Given the description of an element on the screen output the (x, y) to click on. 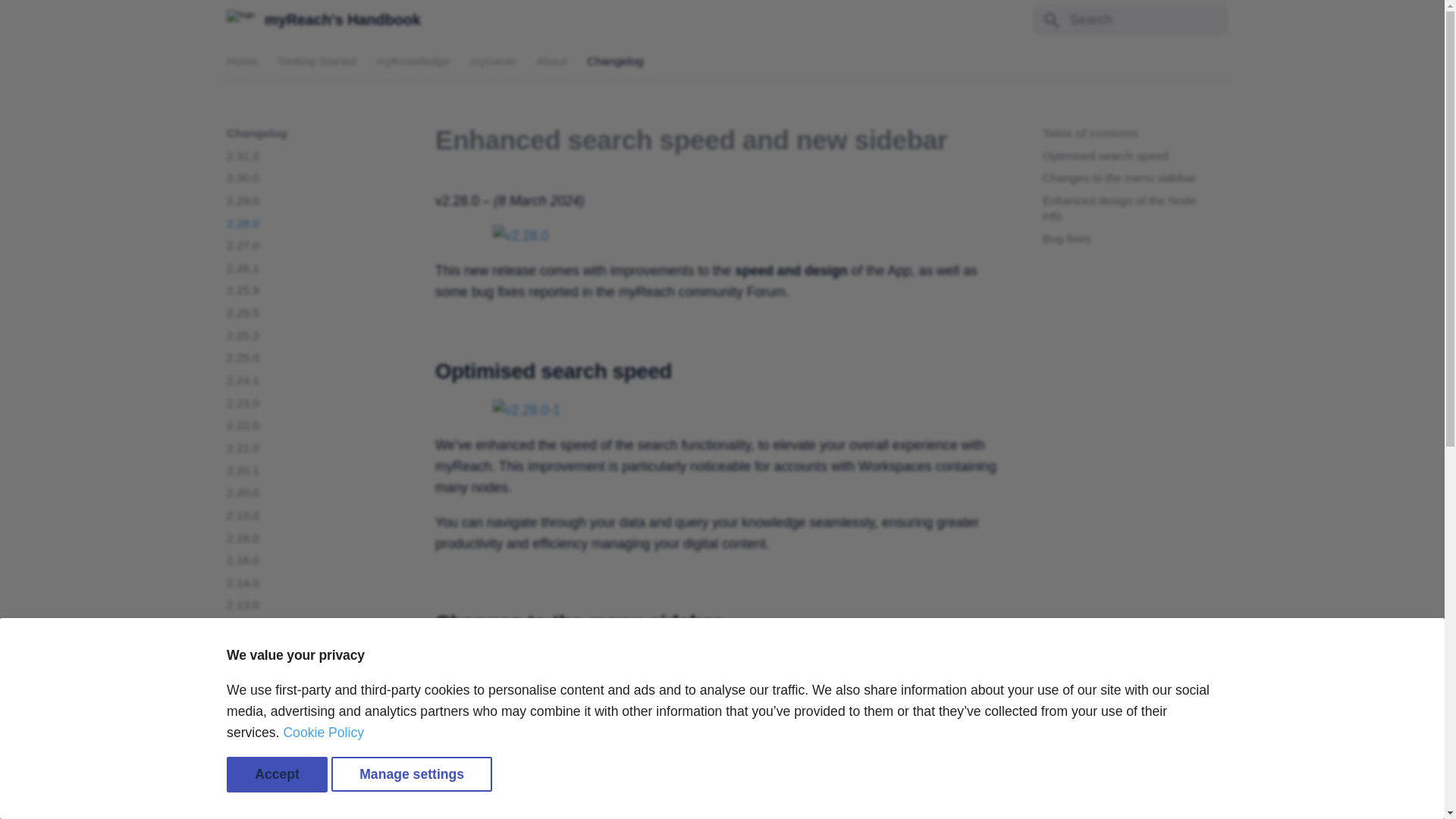
Changelog (614, 60)
About (550, 60)
myKnowledge (412, 60)
Getting Started (317, 60)
Home (242, 60)
myGenie (492, 60)
myReach's Handbook (239, 19)
